Given the description of an element on the screen output the (x, y) to click on. 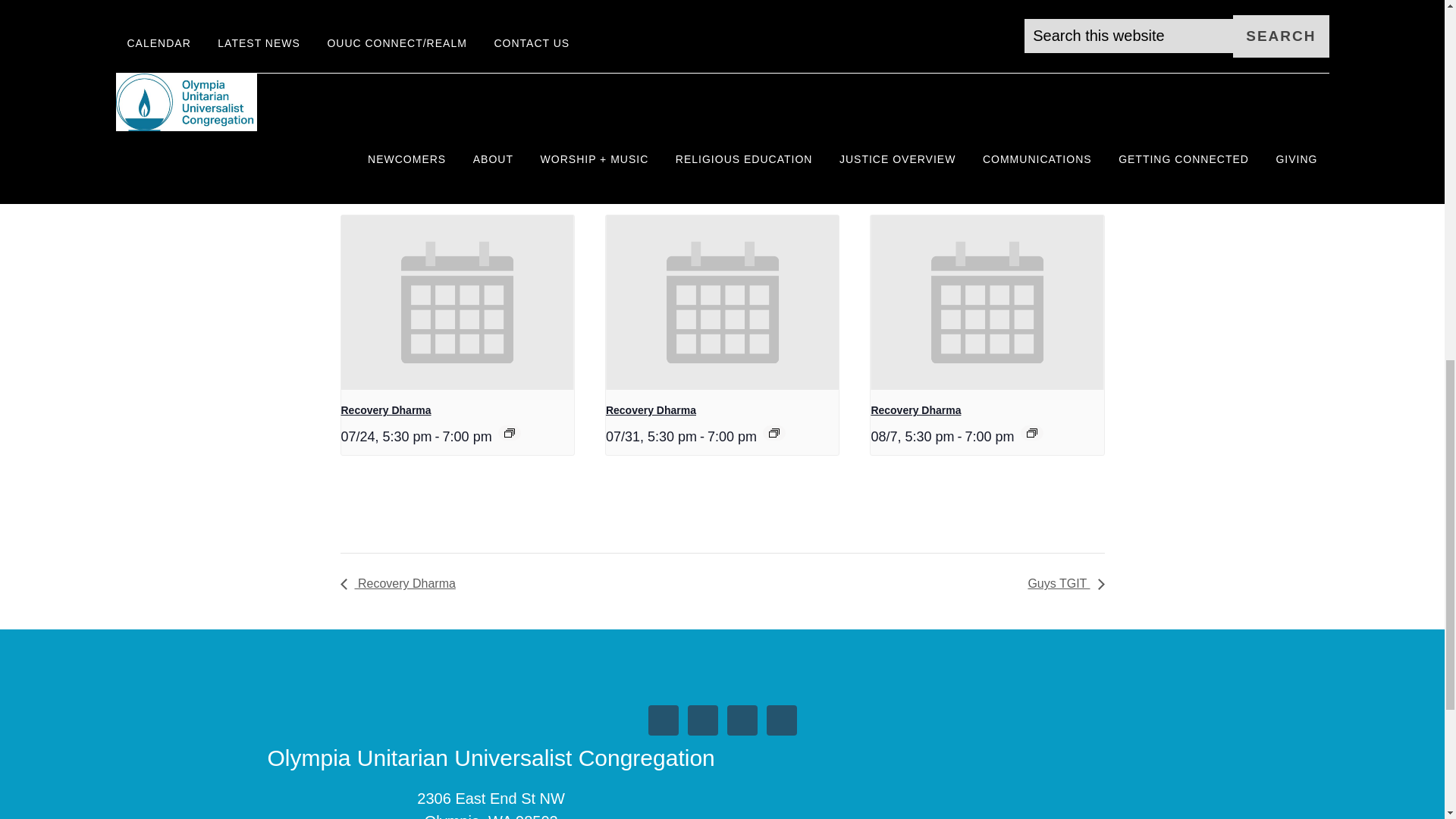
Event Series (773, 432)
Chalice Camp, 9am-3pm, OUUC (399, 38)
Event Series (509, 432)
Event Series (1031, 432)
Google maps iframe displaying the address to  (710, 23)
